Given the description of an element on the screen output the (x, y) to click on. 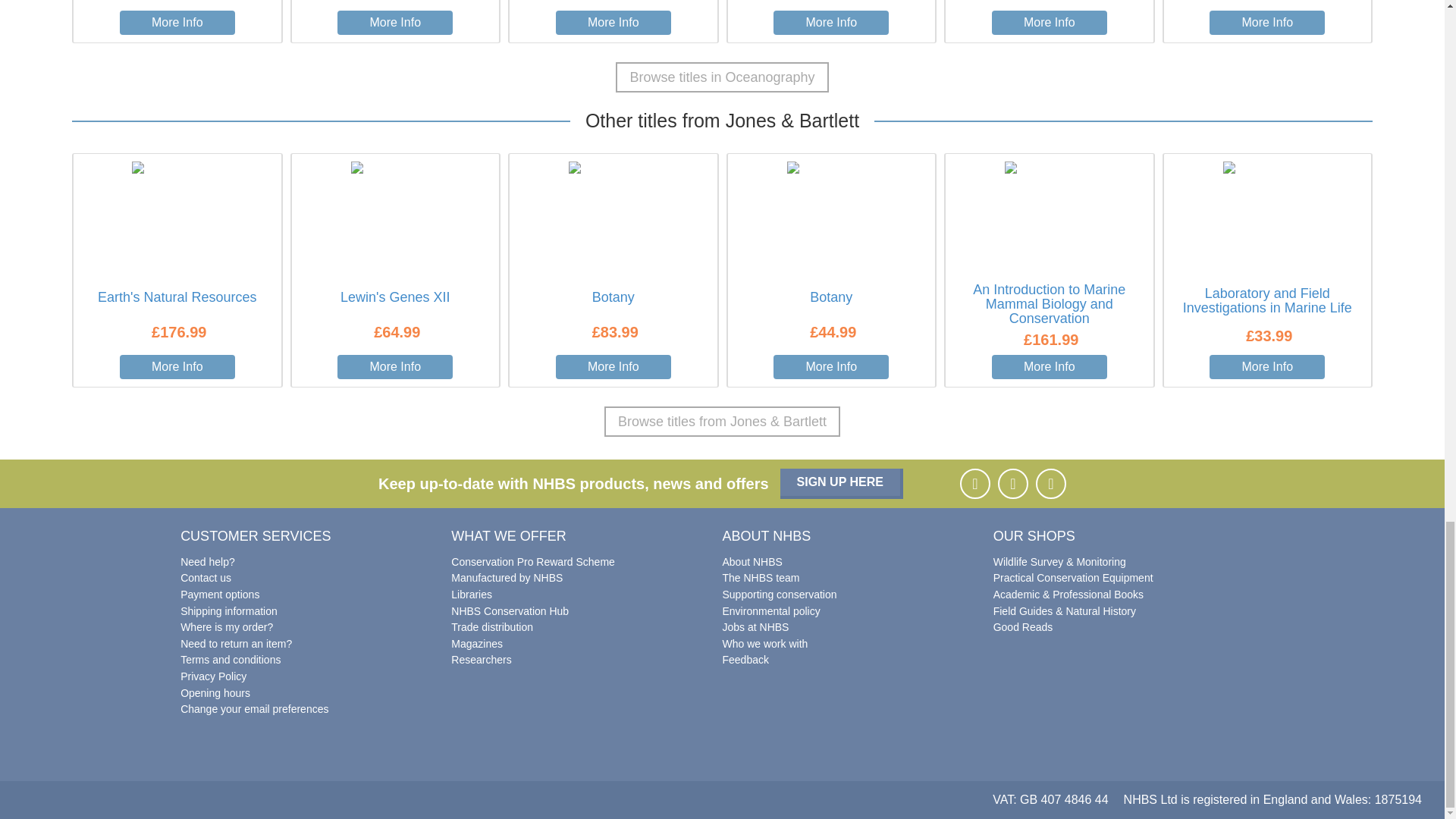
Follow us on Instagram (1012, 483)
Follow us on Twitter (1050, 483)
Follow us on Facebook (974, 483)
Sign up here (841, 483)
